Given the description of an element on the screen output the (x, y) to click on. 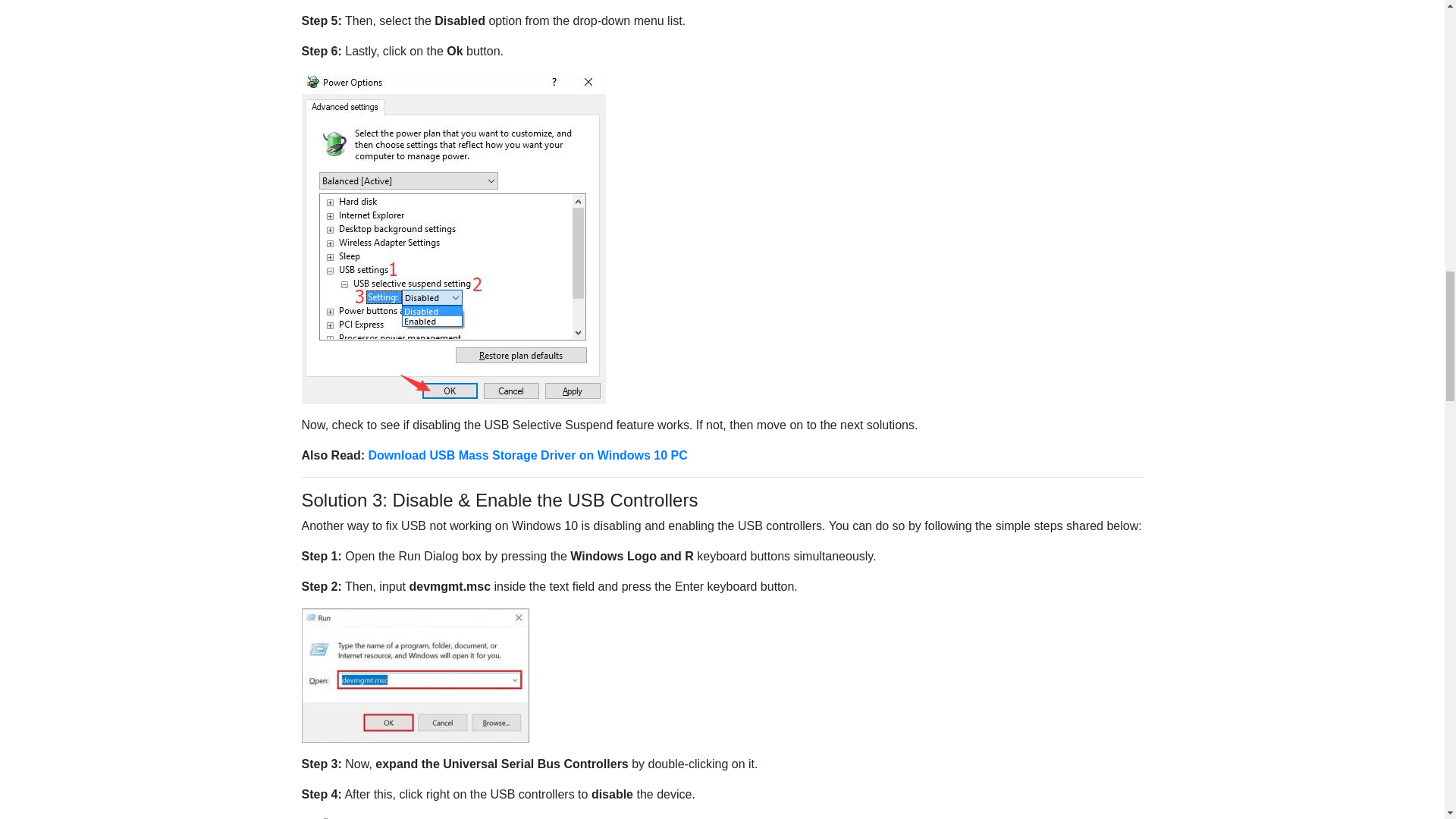
USB Selective Suspend Settings (453, 238)
Type devmgmt.msc in Run Utility (415, 675)
Download USB Mass Storage Driver on Windows 10 PC (527, 454)
